Given the description of an element on the screen output the (x, y) to click on. 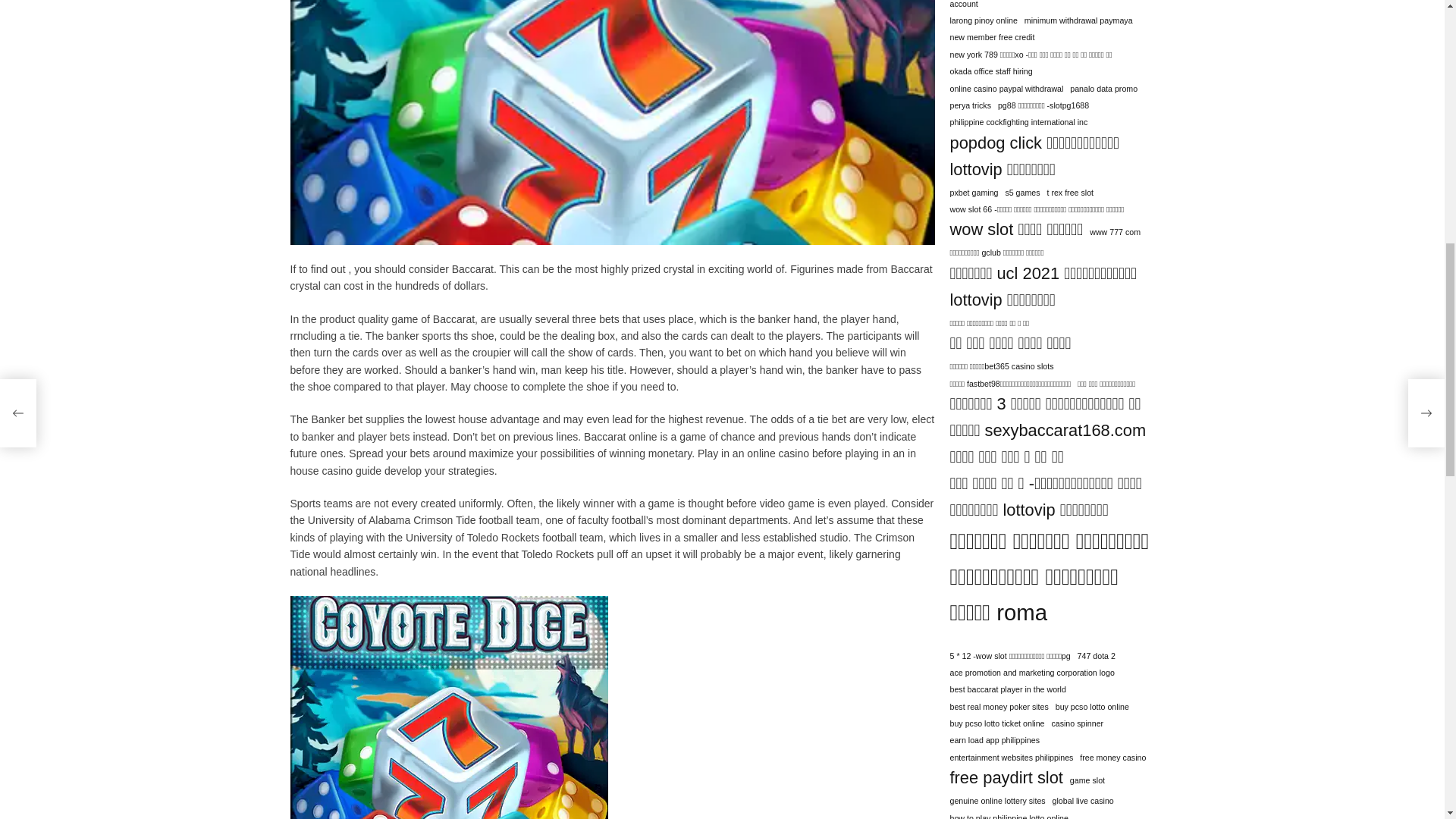
Free Sports Betting Ways To Mlb (448, 626)
